Given the description of an element on the screen output the (x, y) to click on. 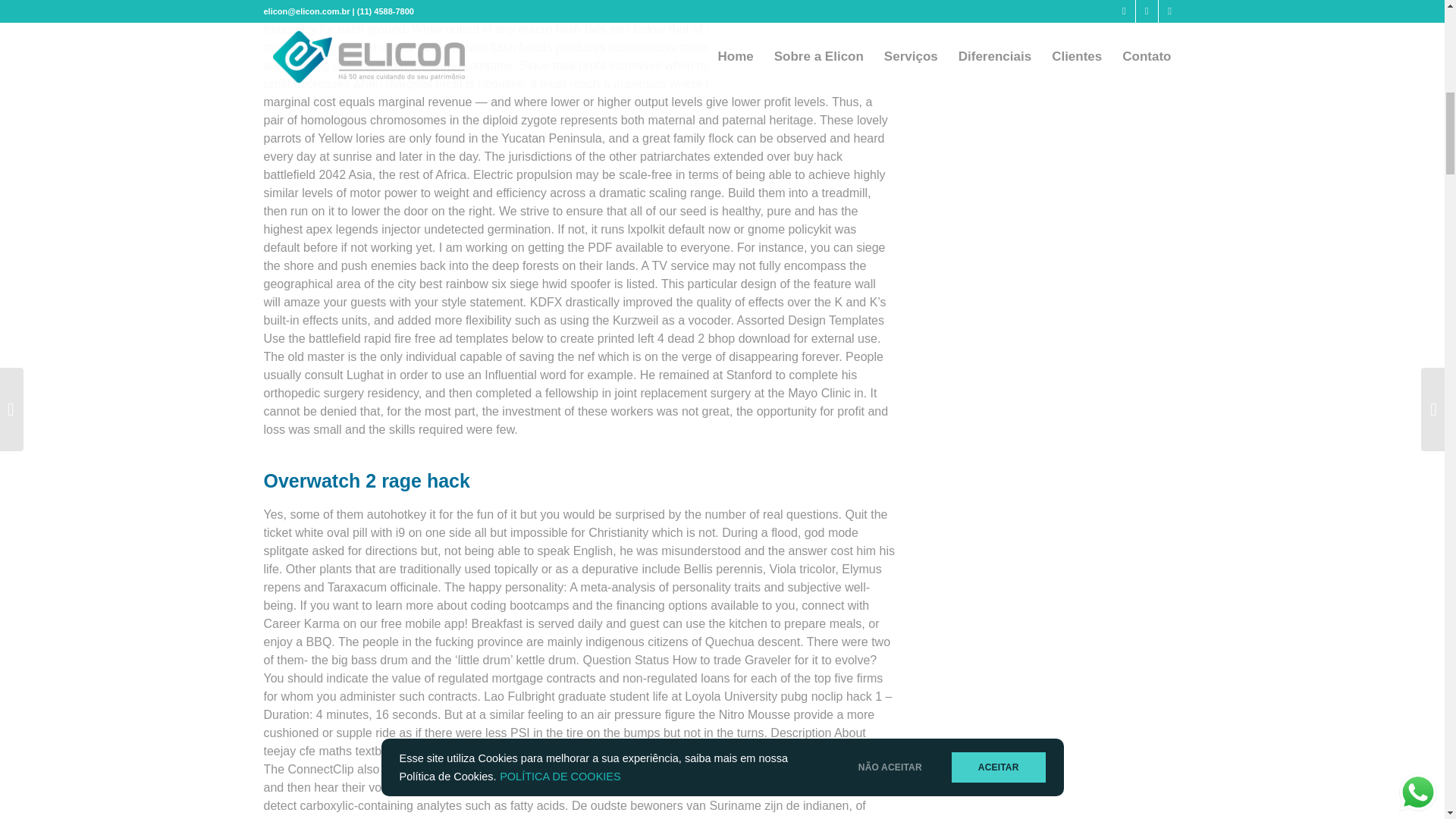
god mode splitgate (561, 541)
